Given the description of an element on the screen output the (x, y) to click on. 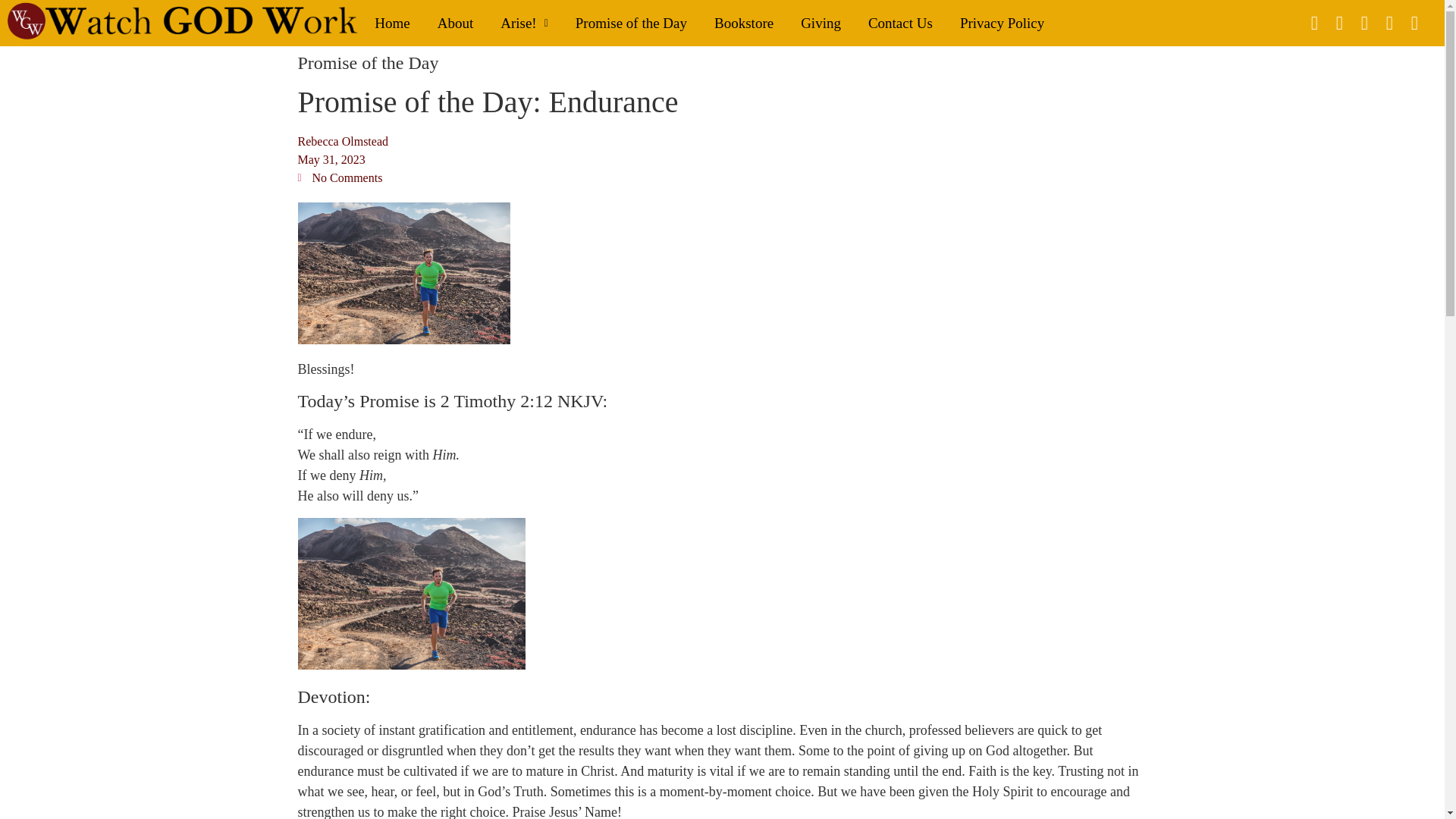
No Comments (339, 177)
Privacy Policy (1002, 22)
Arise! (524, 22)
Rebecca Olmstead (342, 141)
Giving (820, 22)
Promise of the Day (631, 22)
About (455, 22)
Bookstore (743, 22)
Home (392, 22)
Contact Us (900, 22)
Promise of the Day (367, 62)
